Given the description of an element on the screen output the (x, y) to click on. 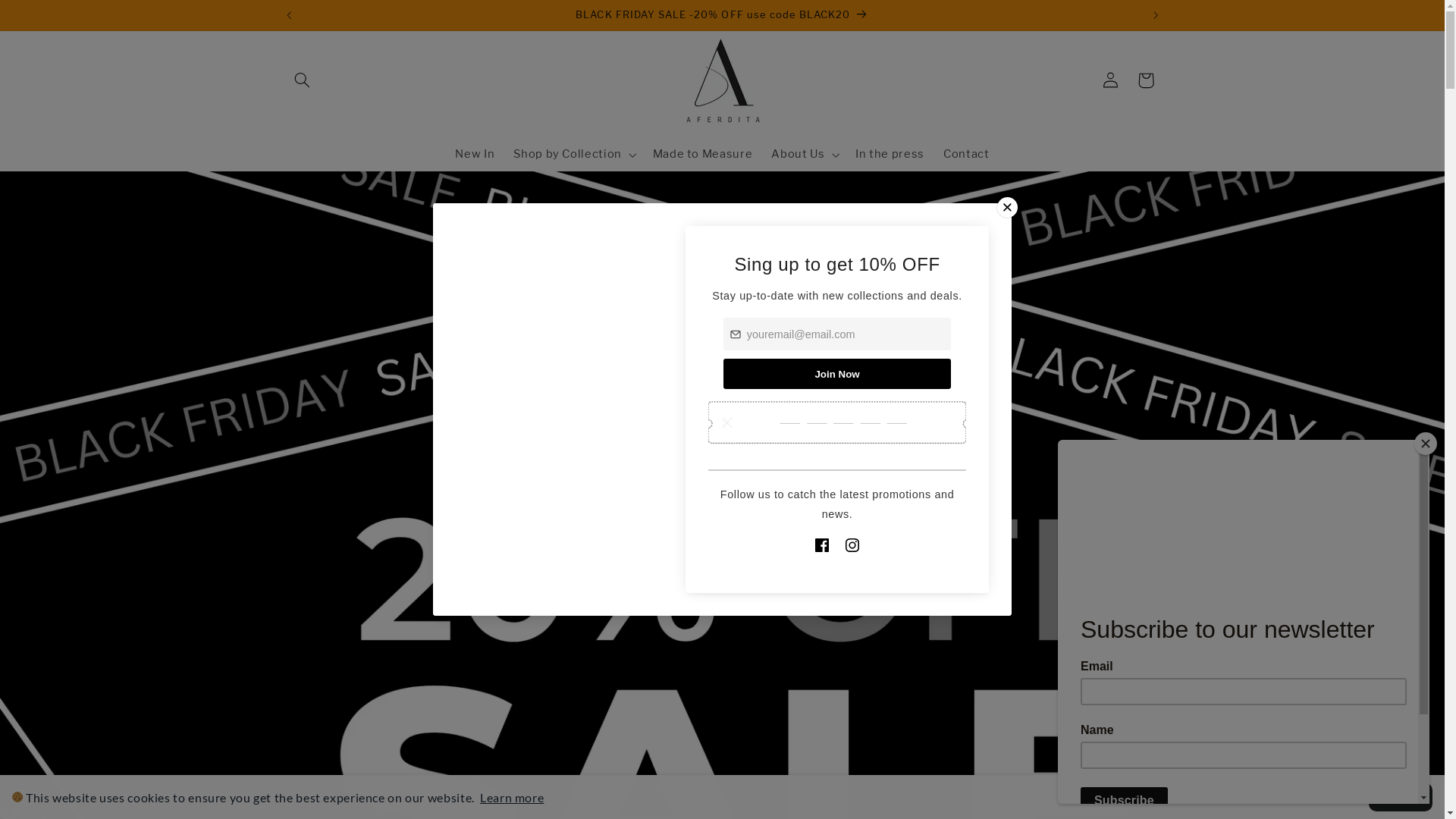
New In Element type: text (474, 154)
In the press Element type: text (890, 154)
Log in Element type: text (1110, 79)
Made to Measure Element type: text (702, 154)
Learn more Element type: text (511, 797)
Cart Element type: text (1145, 79)
Got it Element type: text (1400, 796)
Contact Element type: text (966, 154)
BLACK FRIDAY SALE -20% OFF use code BLACK20 Element type: text (722, 15)
